Given the description of an element on the screen output the (x, y) to click on. 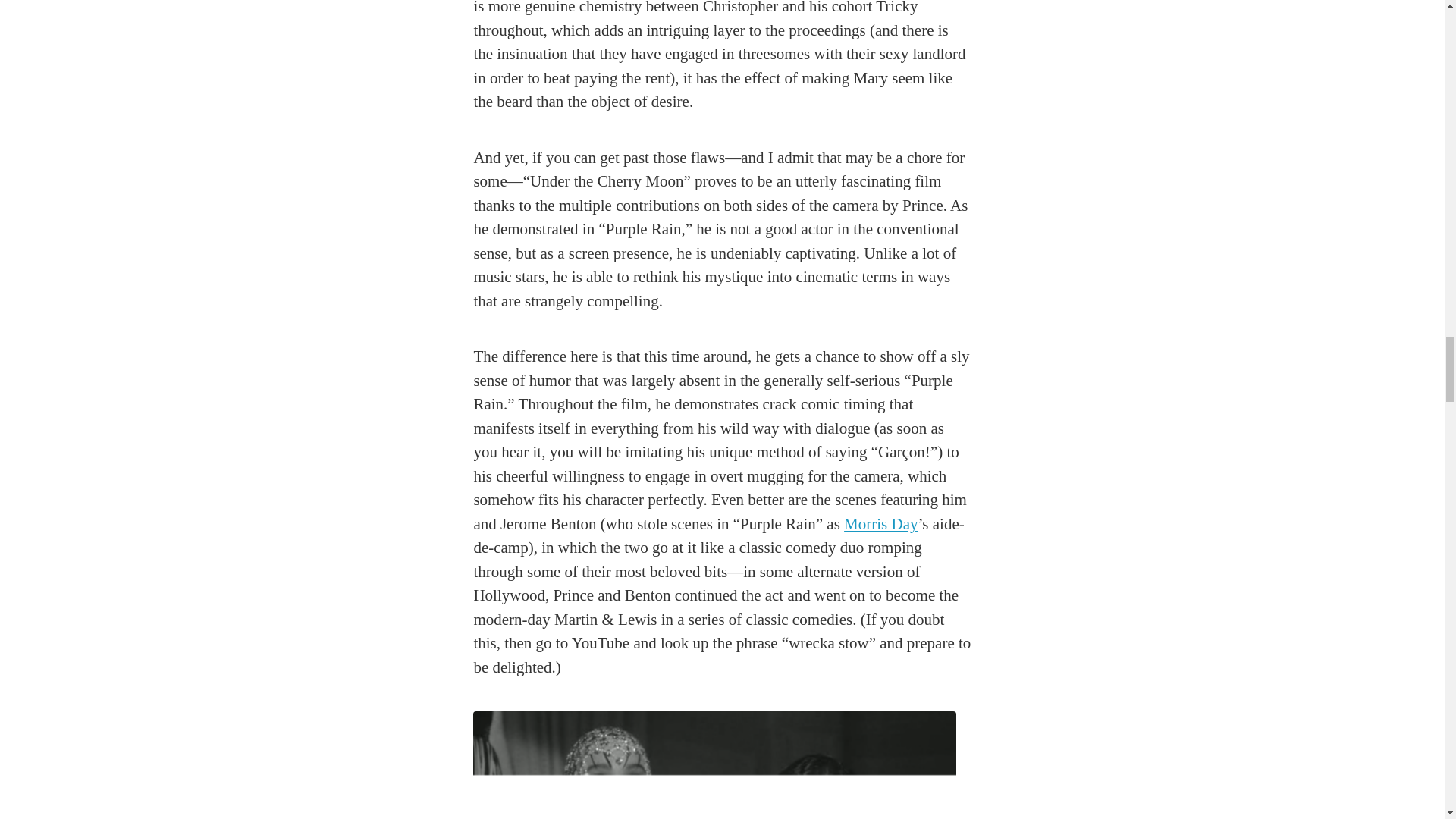
Morris Day (880, 524)
